Given the description of an element on the screen output the (x, y) to click on. 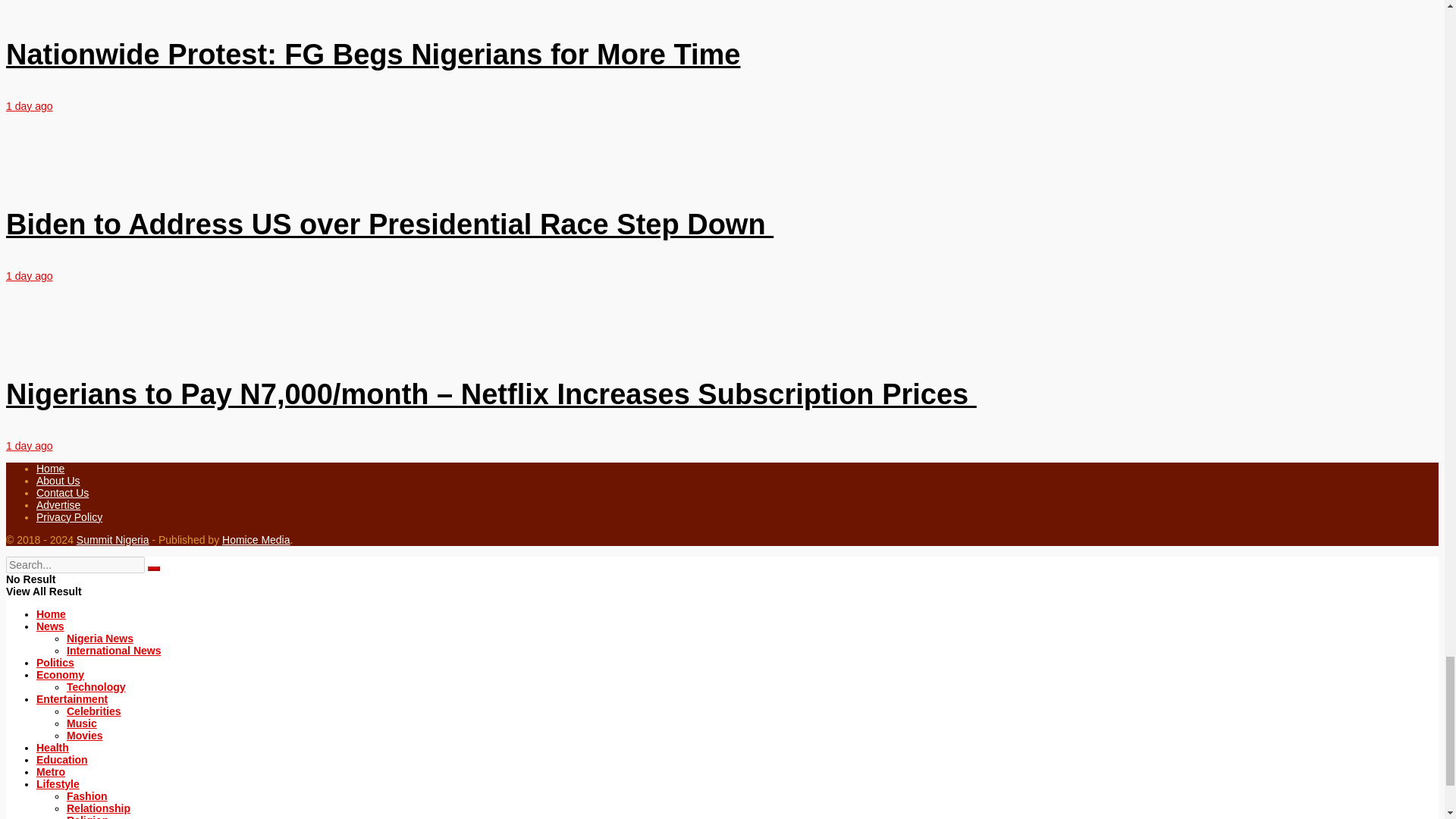
Summit News Nigeria (113, 539)
Homice Media (255, 539)
